Given the description of an element on the screen output the (x, y) to click on. 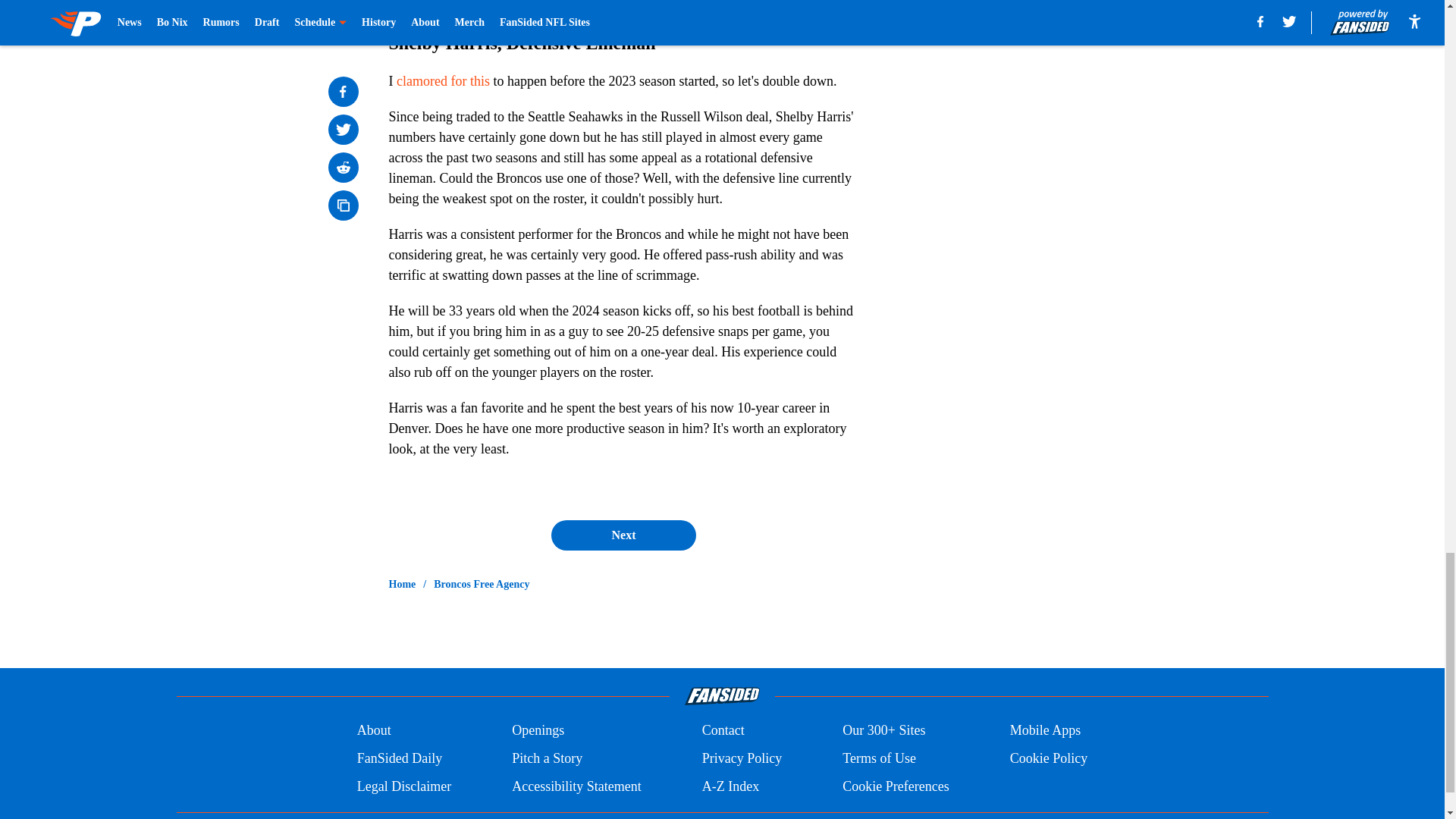
clamored for this (442, 80)
Home (401, 584)
Contact (722, 730)
About (373, 730)
Openings (538, 730)
Next (622, 535)
Terms of Use (879, 758)
FanSided Daily (399, 758)
Mobile Apps (1045, 730)
Cookie Policy (1048, 758)
